Given the description of an element on the screen output the (x, y) to click on. 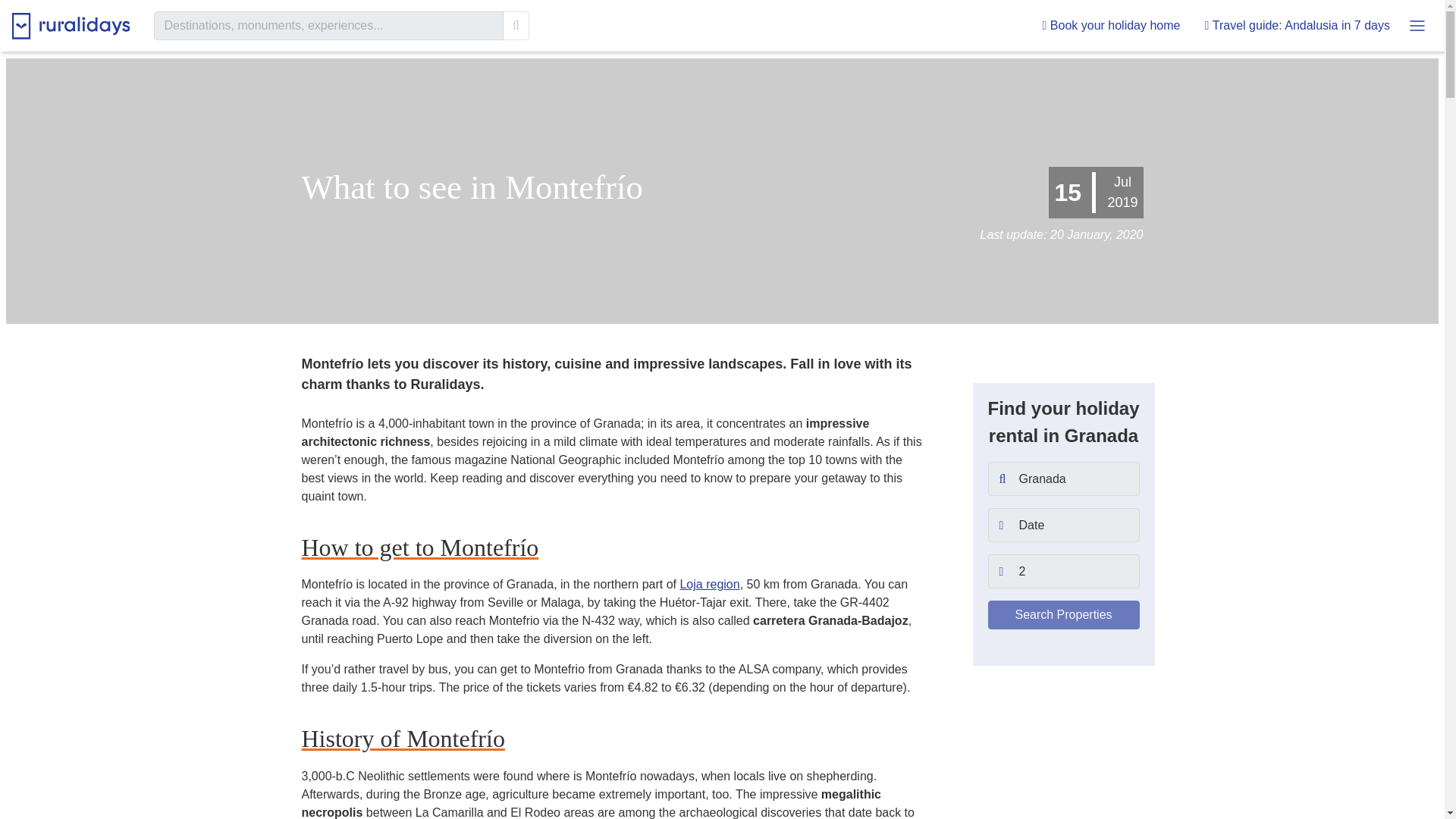
Loja region (709, 584)
Travel guide: Andalusia in 7 days (1297, 25)
Book your holiday home (1111, 25)
2 (1062, 571)
Granada (1062, 478)
